Given the description of an element on the screen output the (x, y) to click on. 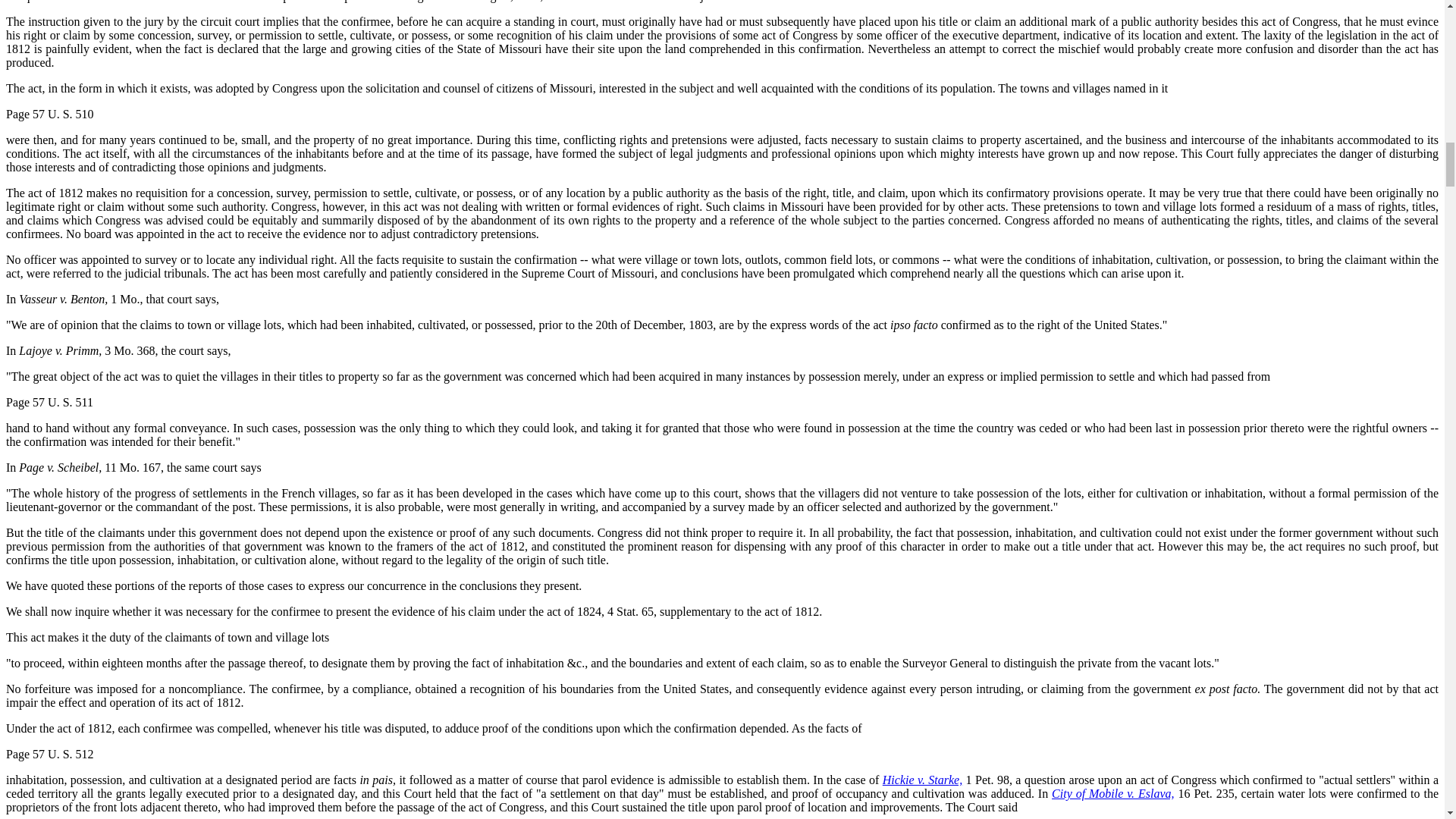
Page 57 U. S. 510 (49, 113)
Page 57 U. S. 511 (49, 401)
Hickie v. Starke, (922, 779)
City of Mobile v. Eslava, (1112, 793)
Page 57 U. S. 512 (49, 753)
